Given the description of an element on the screen output the (x, y) to click on. 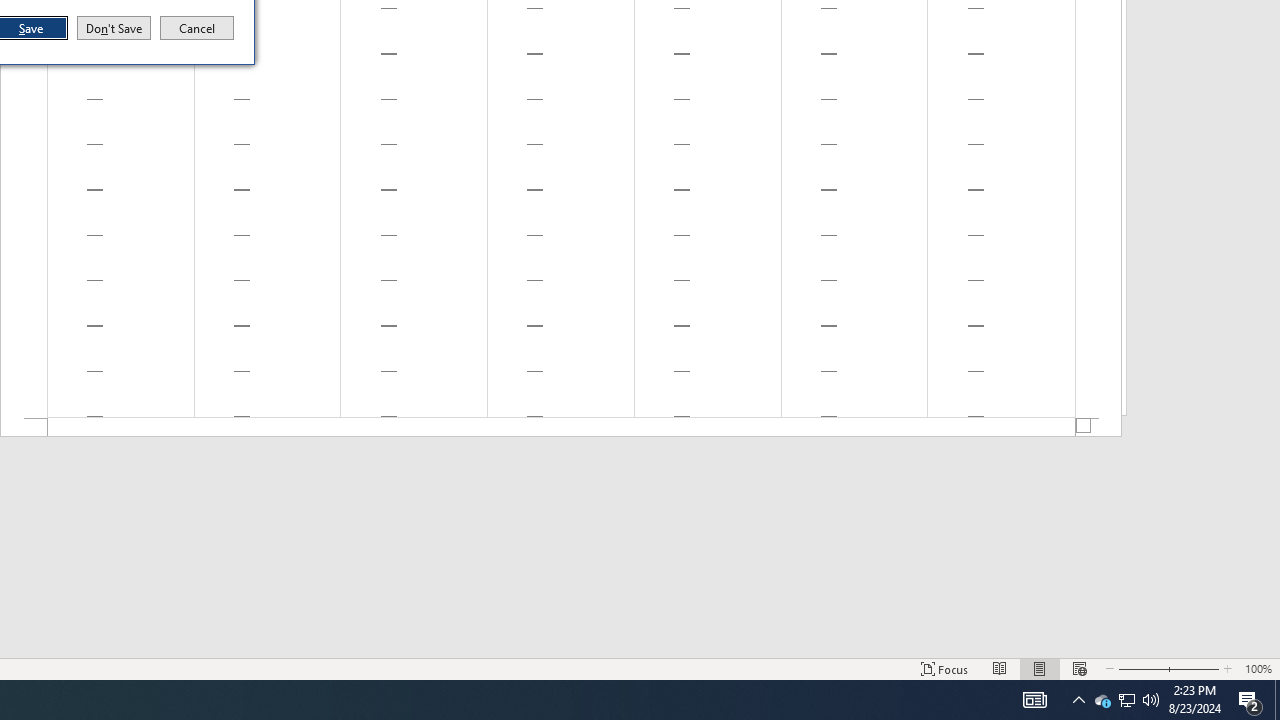
AutomationID: 4105 (1034, 699)
Action Center, 2 new notifications (1250, 699)
Notification Chevron (1078, 699)
